Given the description of an element on the screen output the (x, y) to click on. 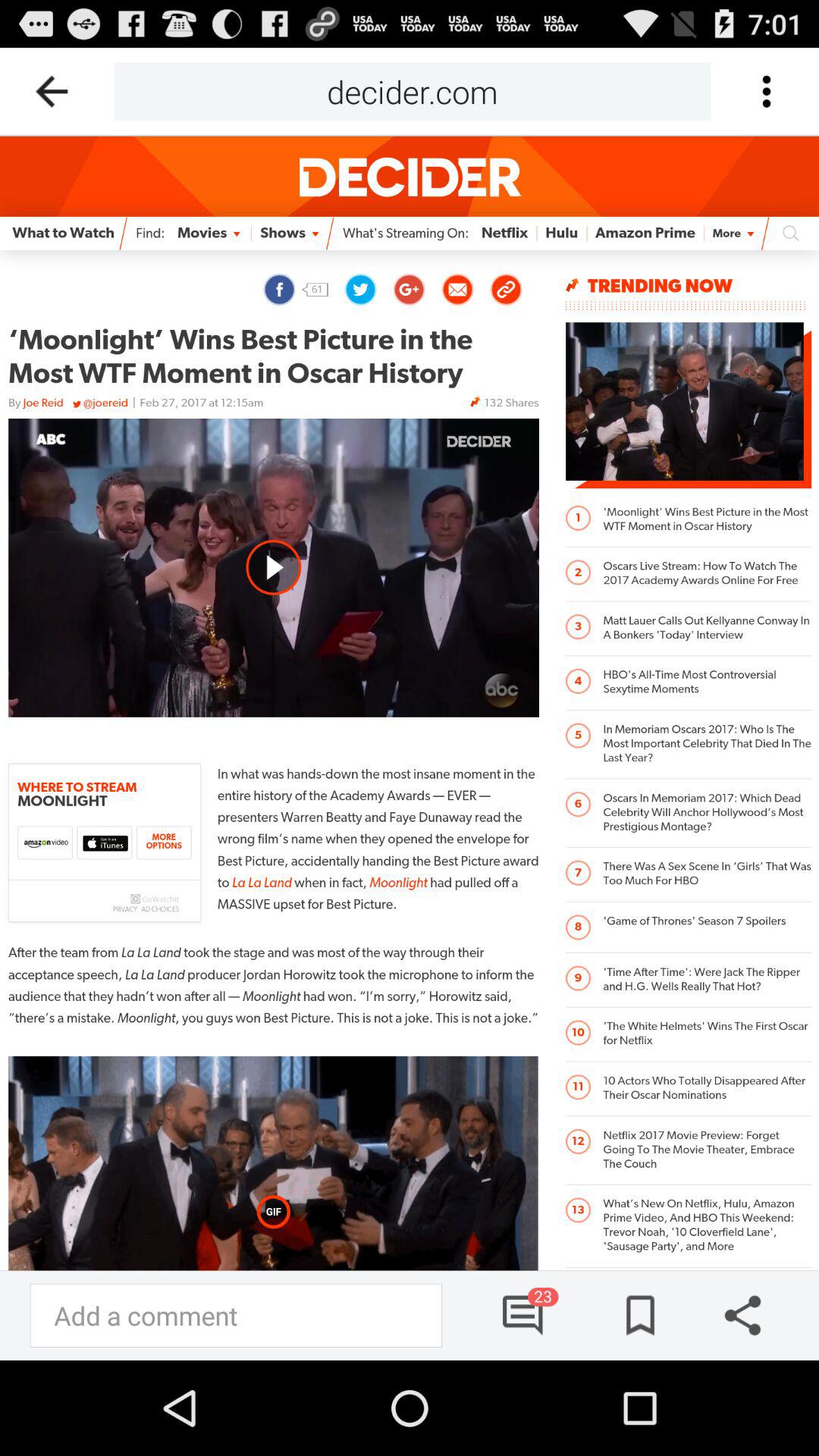
click for more (765, 91)
